Given the description of an element on the screen output the (x, y) to click on. 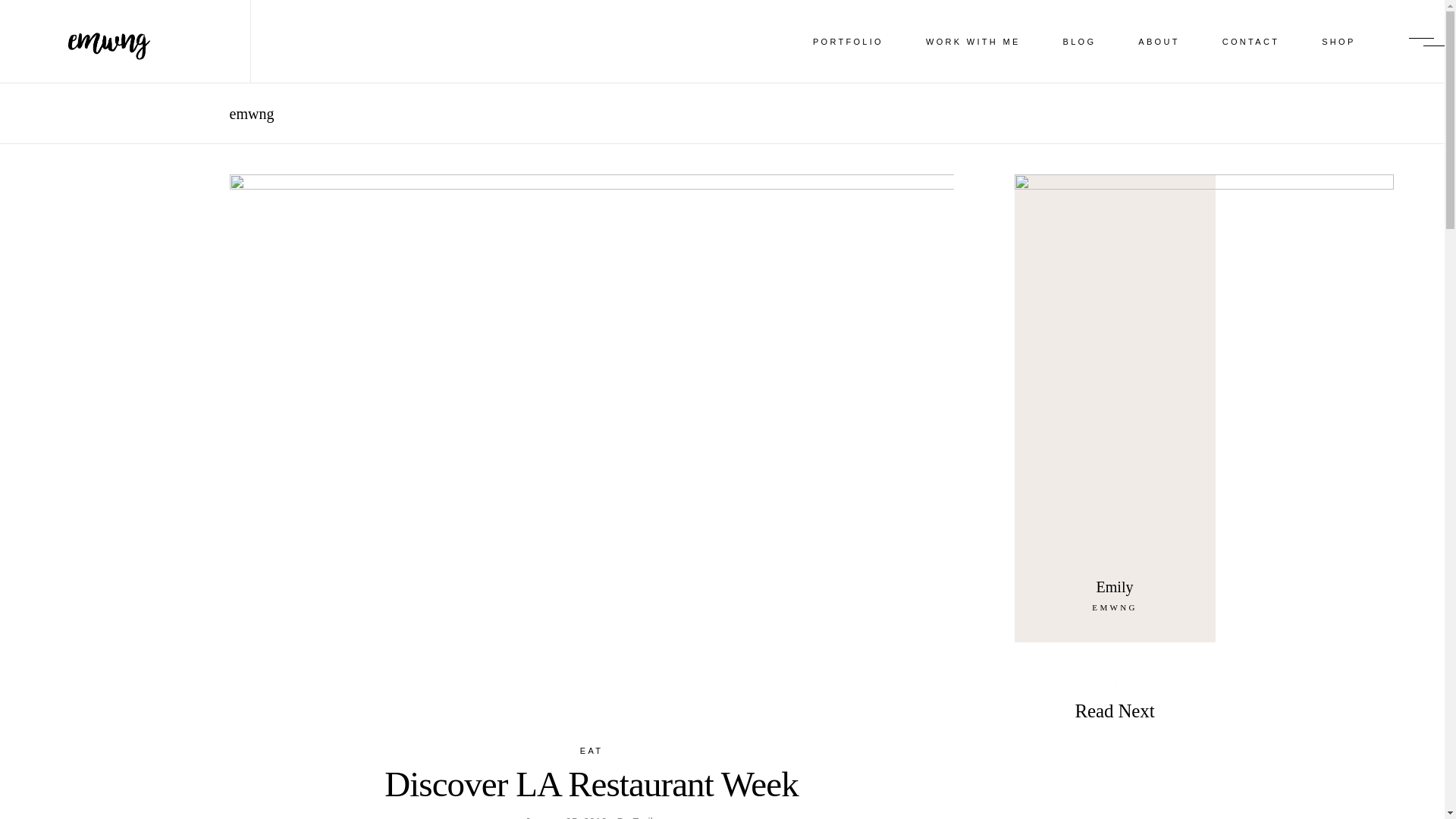
CONTACT (1250, 41)
ABOUT (1157, 41)
BLOG (1080, 41)
SHOP (1337, 41)
WORK WITH ME (973, 41)
PORTFOLIO (848, 41)
